Given the description of an element on the screen output the (x, y) to click on. 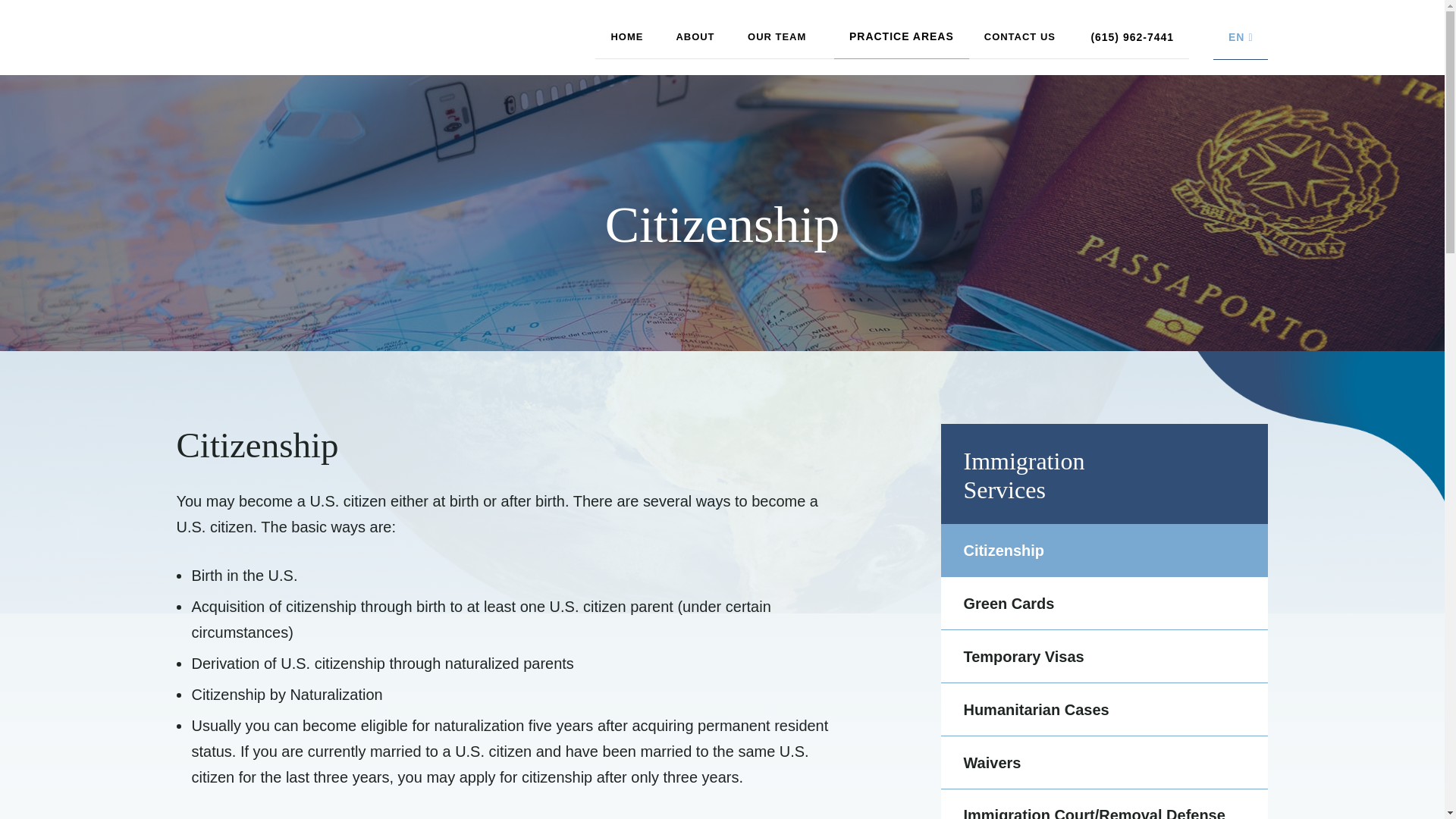
Waivers (1104, 762)
Attorneys (783, 38)
HOME (628, 38)
Practice Areas (901, 38)
About (696, 38)
Citizenship (1104, 550)
Contact Us (1022, 38)
Green Cards (1104, 603)
OUR TEAM (783, 38)
CONTACT US (1022, 38)
